Given the description of an element on the screen output the (x, y) to click on. 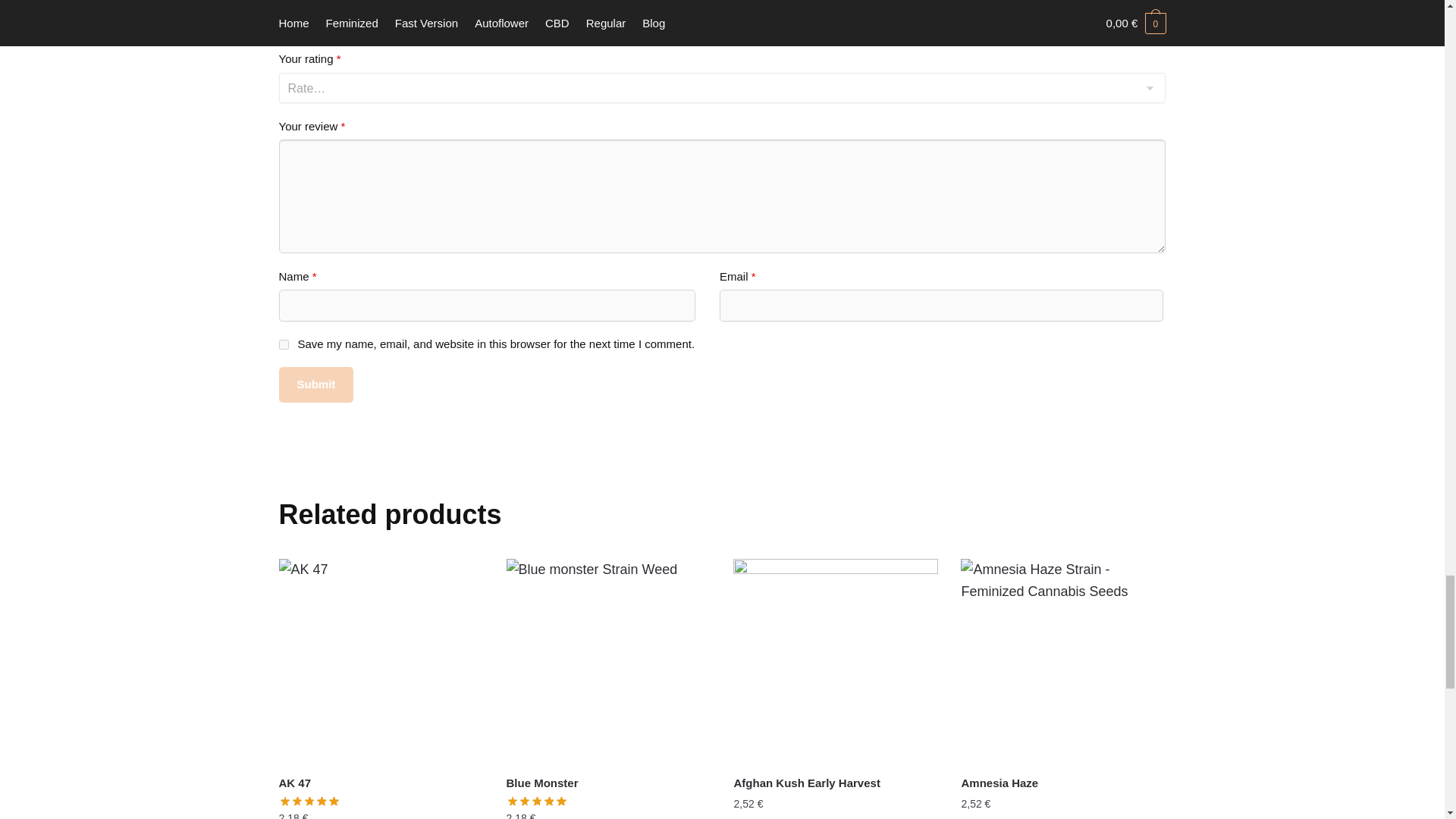
Submit (316, 384)
AK 47 (381, 660)
Amnesia Haze (1063, 660)
Submit (316, 384)
Blue Monster (608, 782)
AK 47 (381, 782)
Blue Monster (608, 660)
Afghan Kush Early Harvest (835, 660)
yes (283, 344)
